Given the description of an element on the screen output the (x, y) to click on. 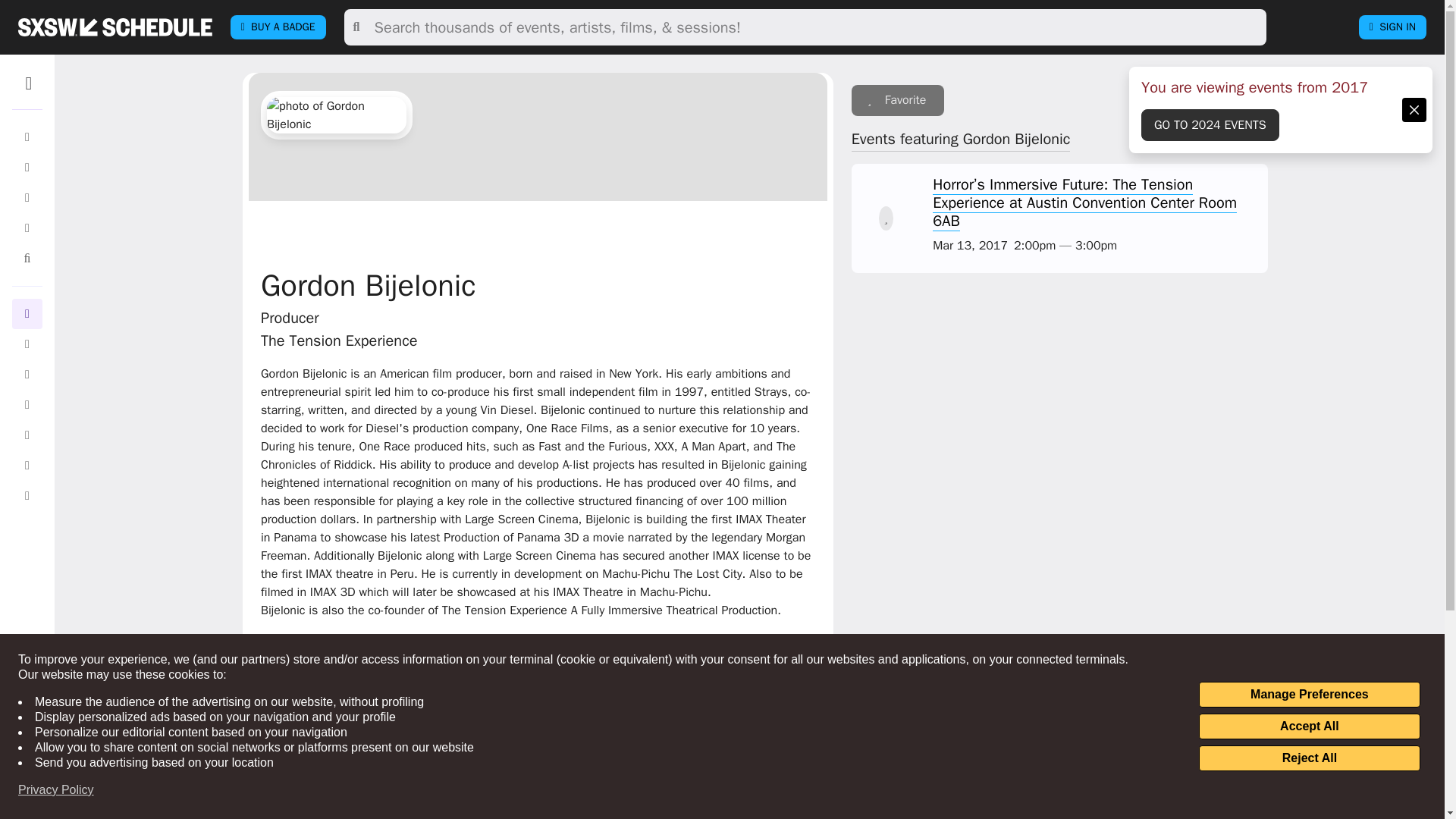
Accept All (1309, 726)
Sign In to add to your favorites. (897, 100)
BUY A BADGE (278, 27)
Reject All (1309, 758)
GO TO 2024 EVENTS (1210, 124)
Privacy Policy (55, 789)
SIGN IN (1392, 27)
sxsw SCHEDULE (114, 27)
Manage Preferences (1309, 694)
